Given the description of an element on the screen output the (x, y) to click on. 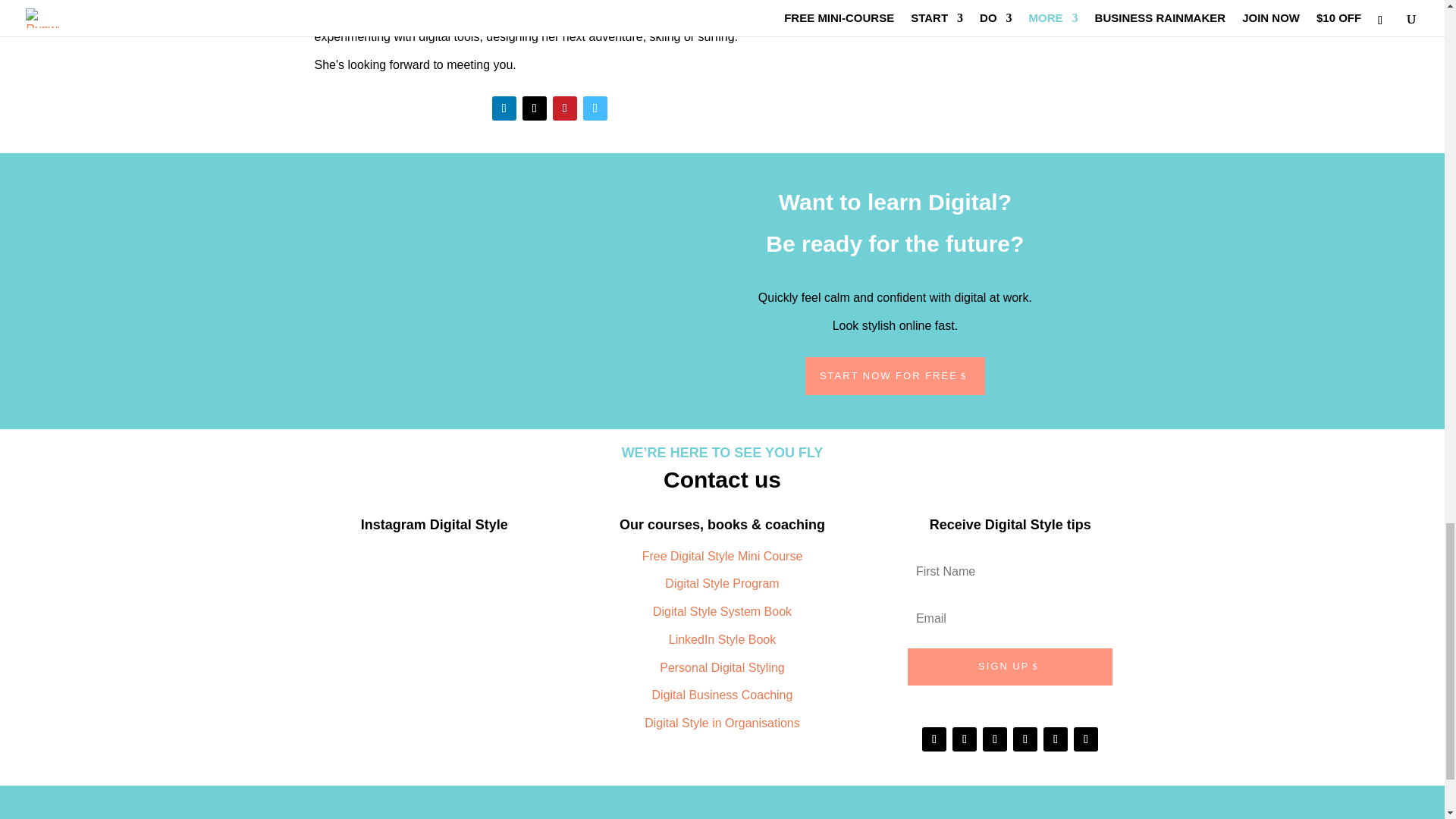
Follow on Pinterest (564, 108)
Follow on Twitter (534, 108)
Follow on LinkedIn (504, 108)
Follow on Vimeo (595, 108)
